Given the description of an element on the screen output the (x, y) to click on. 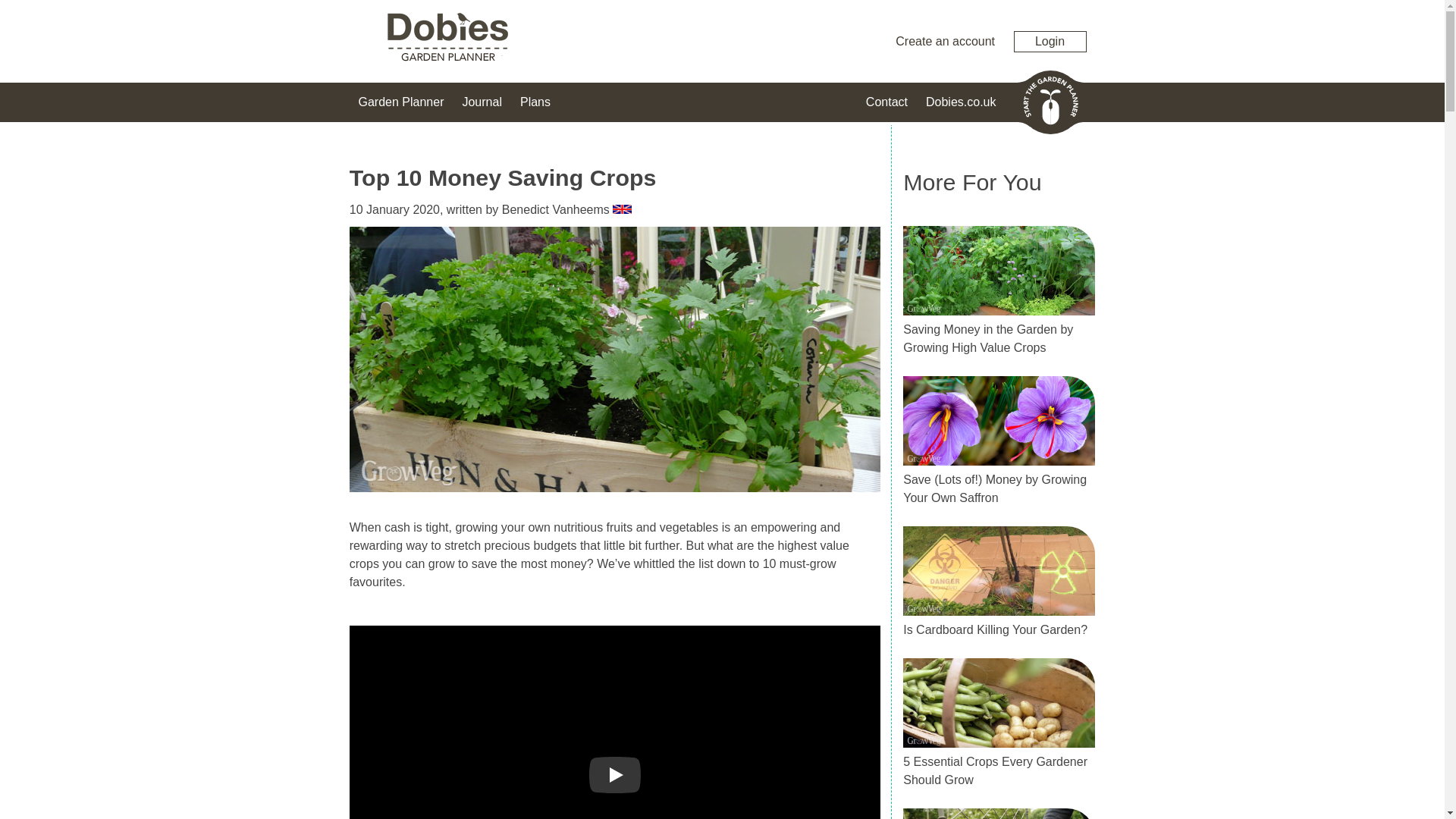
Contact (886, 102)
Create an account (944, 41)
Dobies.co.uk (960, 102)
Go back to the main website (960, 102)
Play (614, 773)
Journal (480, 102)
Login (1049, 40)
Garden Planner (401, 102)
